Given the description of an element on the screen output the (x, y) to click on. 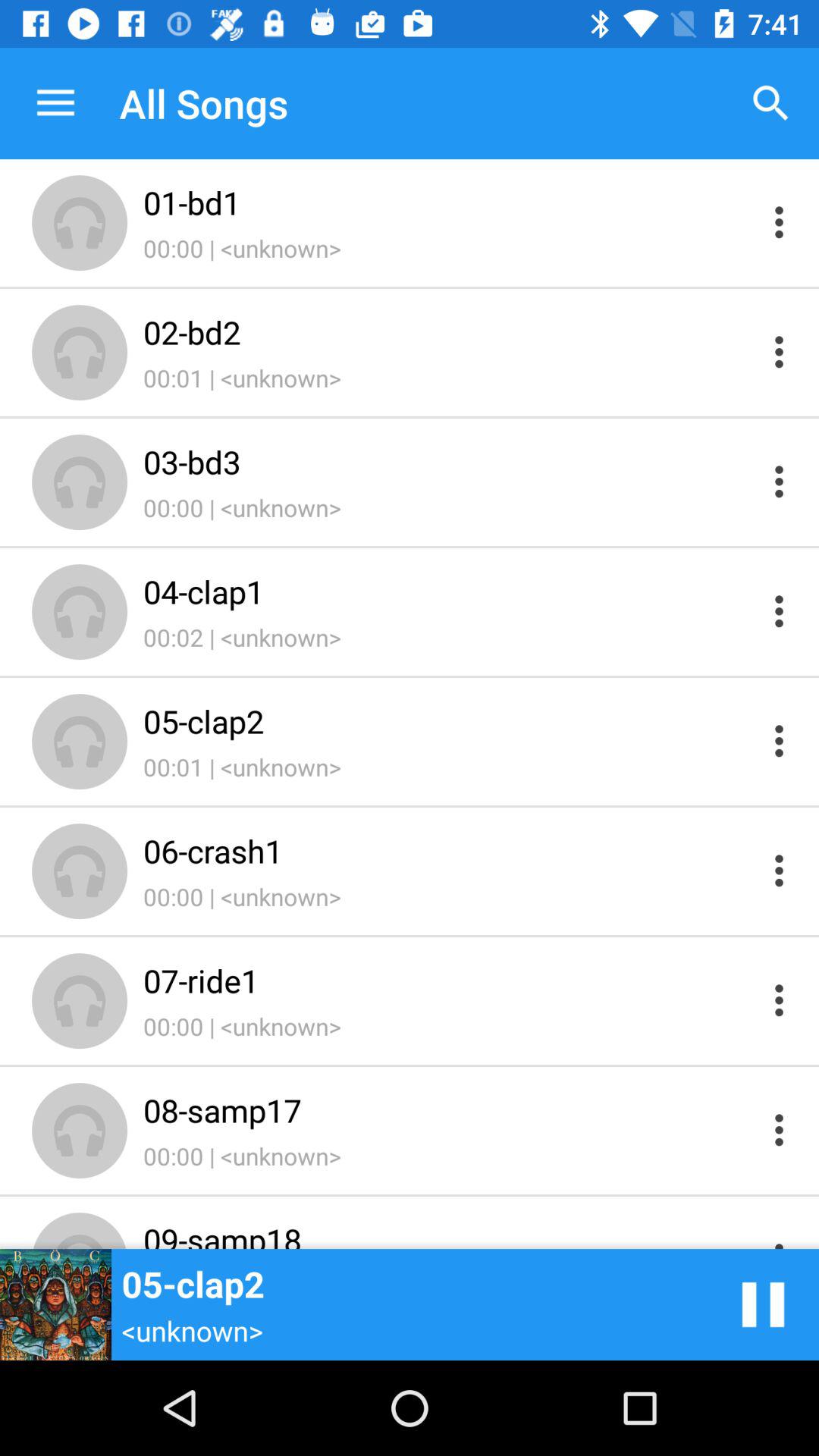
open menu (779, 351)
